Given the description of an element on the screen output the (x, y) to click on. 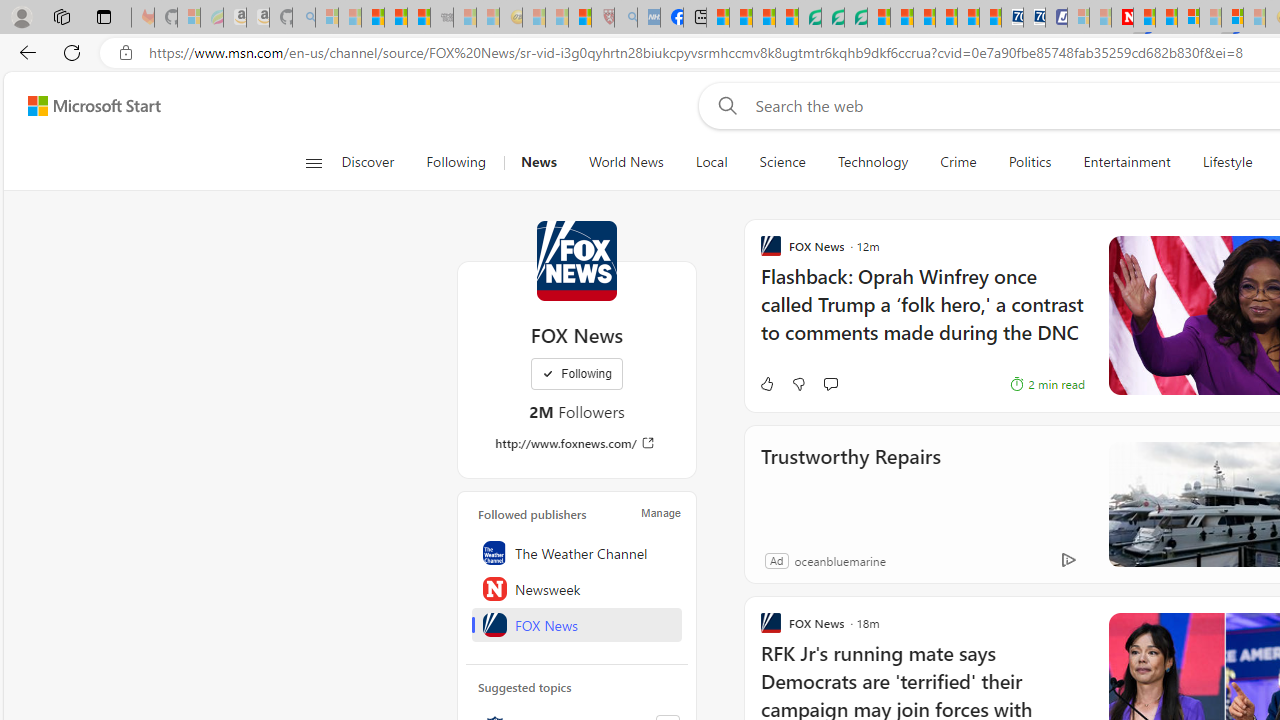
LendingTree - Compare Lenders (809, 17)
